Given the description of an element on the screen output the (x, y) to click on. 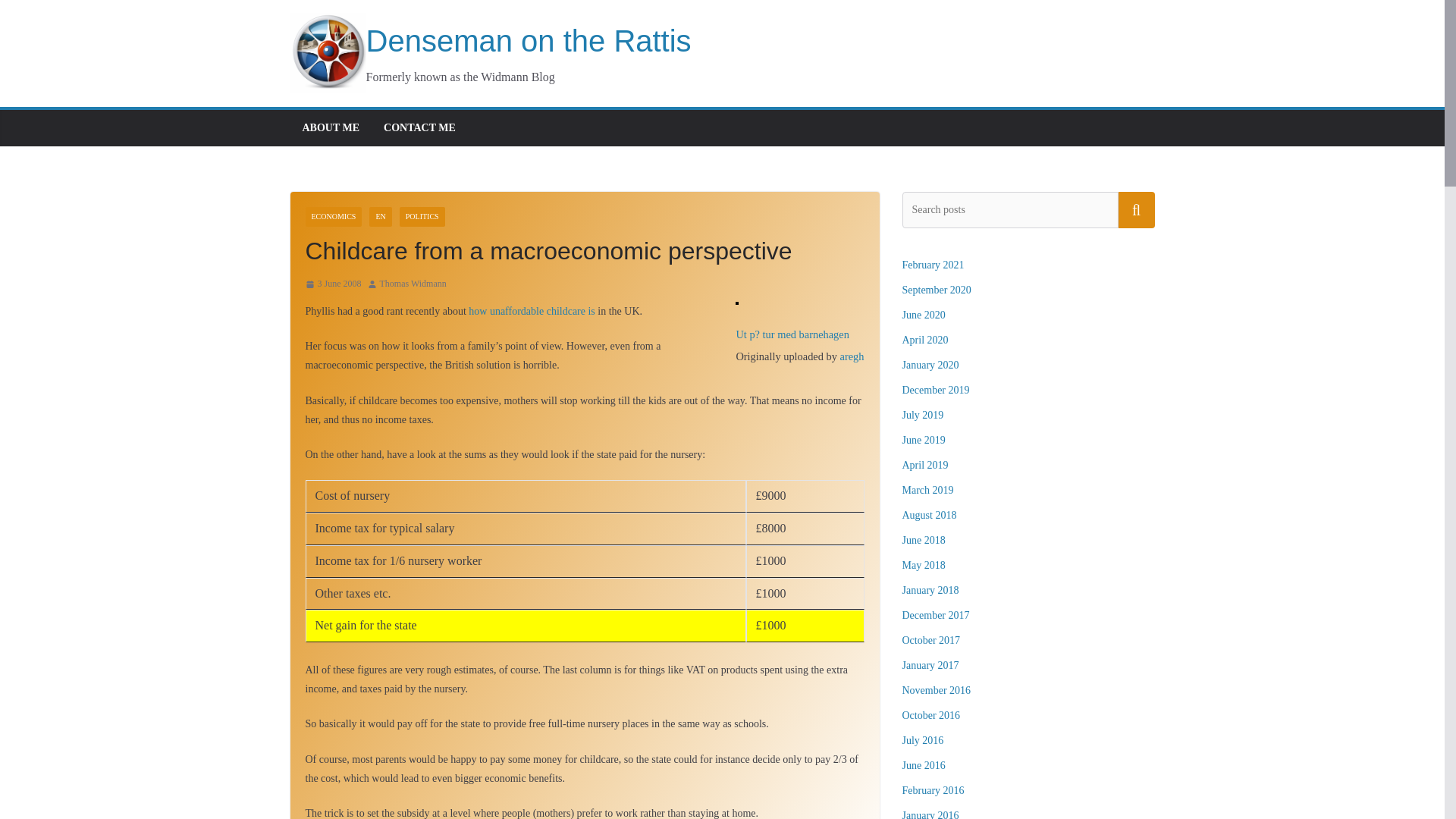
Denseman on the Rattis (489, 40)
EN (380, 216)
Search (1136, 209)
ECONOMICS (332, 216)
October 2017 (931, 640)
June 2018 (923, 540)
December 2019 (935, 389)
October 2016 (931, 715)
3 June 2008 (332, 284)
Denseman on the Rattis (489, 40)
January 2018 (930, 590)
April 2019 (925, 464)
how unaffordable childcare is (531, 310)
22:27 (332, 284)
Ut p? tur med barnehagen (791, 334)
